Given the description of an element on the screen output the (x, y) to click on. 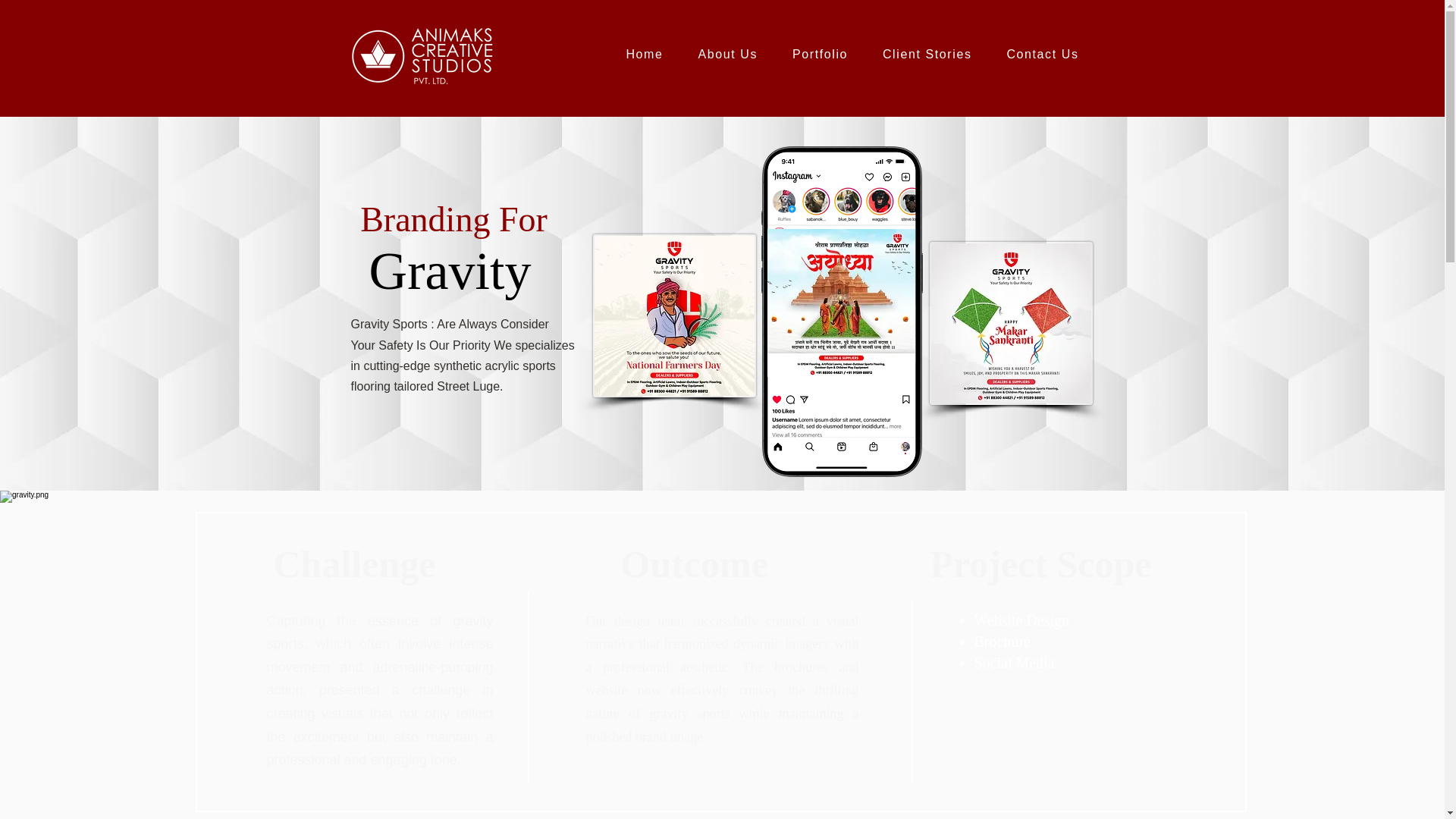
Portfolio (819, 55)
Client Stories (926, 55)
Contact Us (1042, 55)
About Us (726, 55)
Home (644, 55)
